Given the description of an element on the screen output the (x, y) to click on. 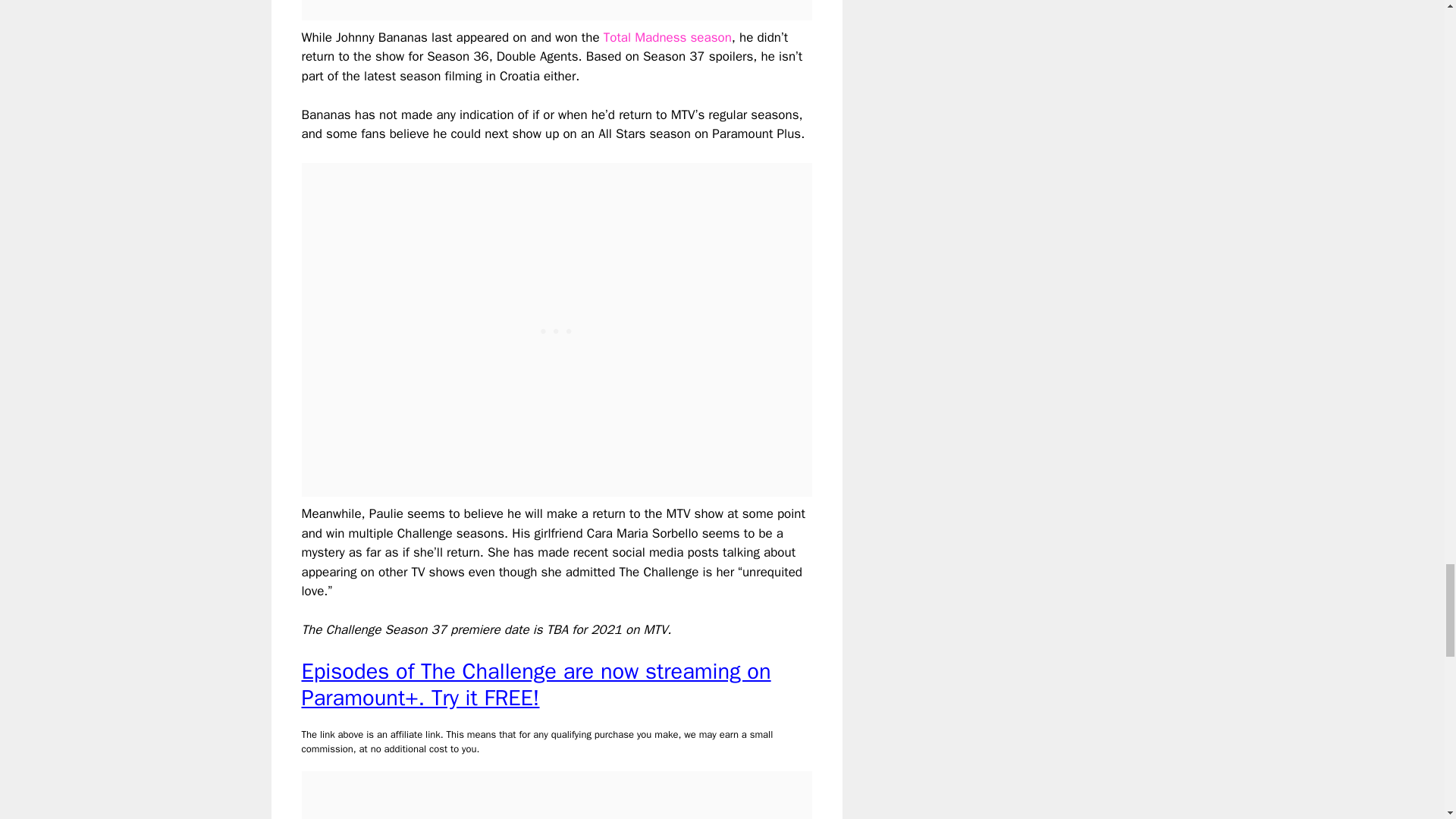
Total Madness season (668, 37)
